Given the description of an element on the screen output the (x, y) to click on. 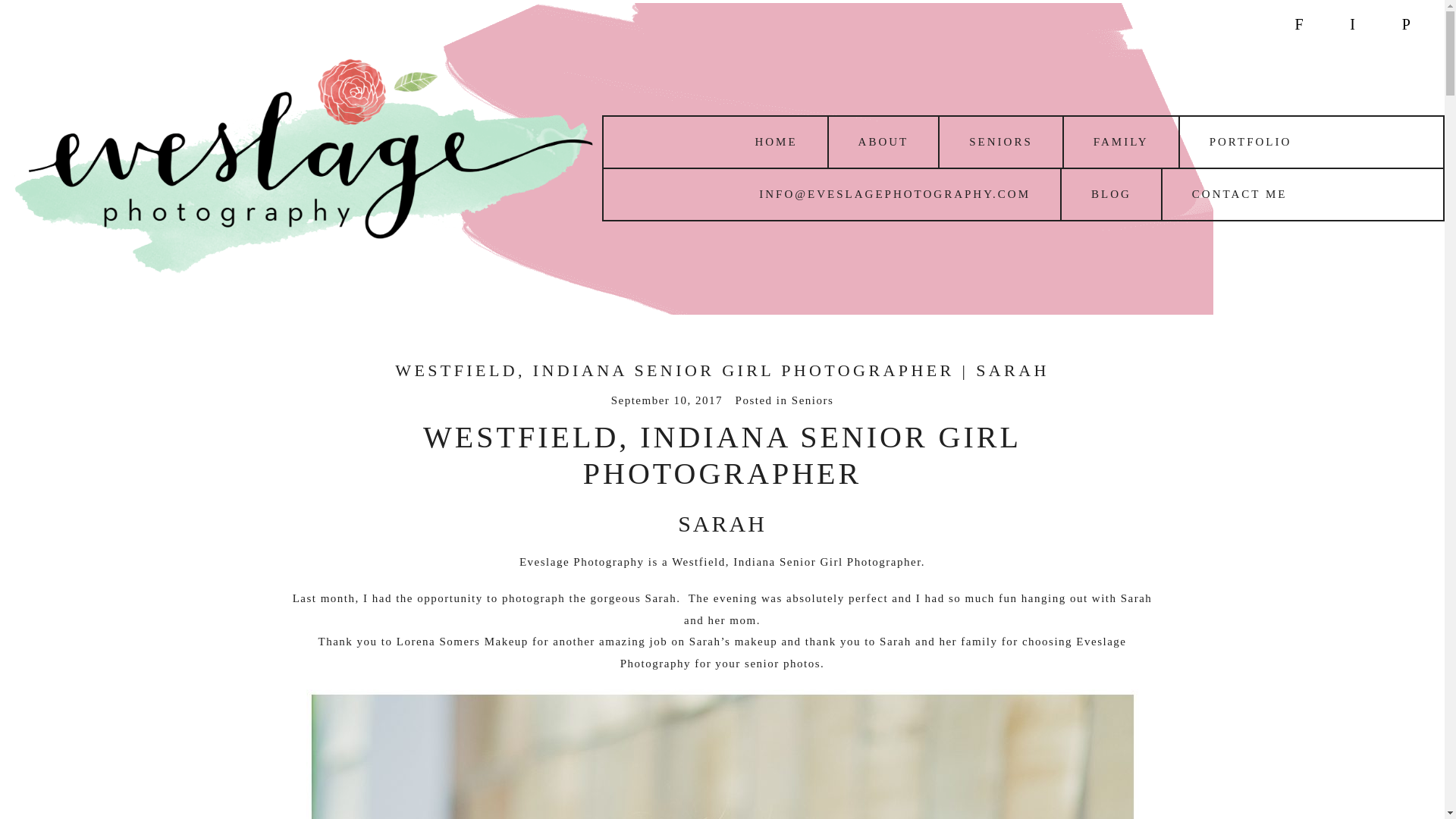
HOME (775, 141)
FAMILY (1120, 141)
I (1351, 23)
P (1405, 23)
ABOUT (883, 141)
BLOG (1110, 193)
F (1297, 23)
PORTFOLIO (1250, 141)
SENIORS (1000, 141)
CONTACT ME (1239, 193)
Seniors (813, 399)
